Given the description of an element on the screen output the (x, y) to click on. 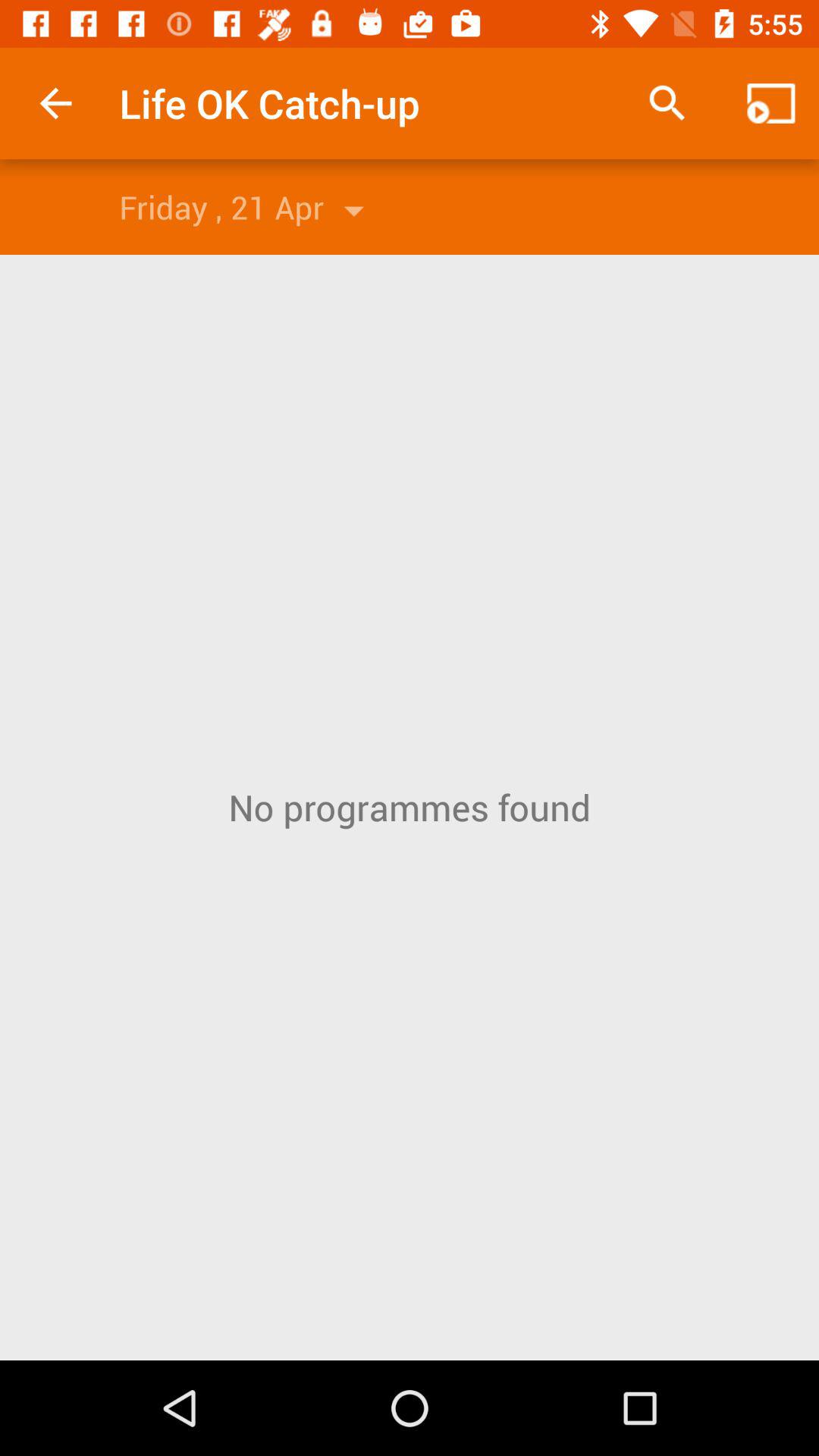
turn on item above the no programmes found (667, 103)
